Given the description of an element on the screen output the (x, y) to click on. 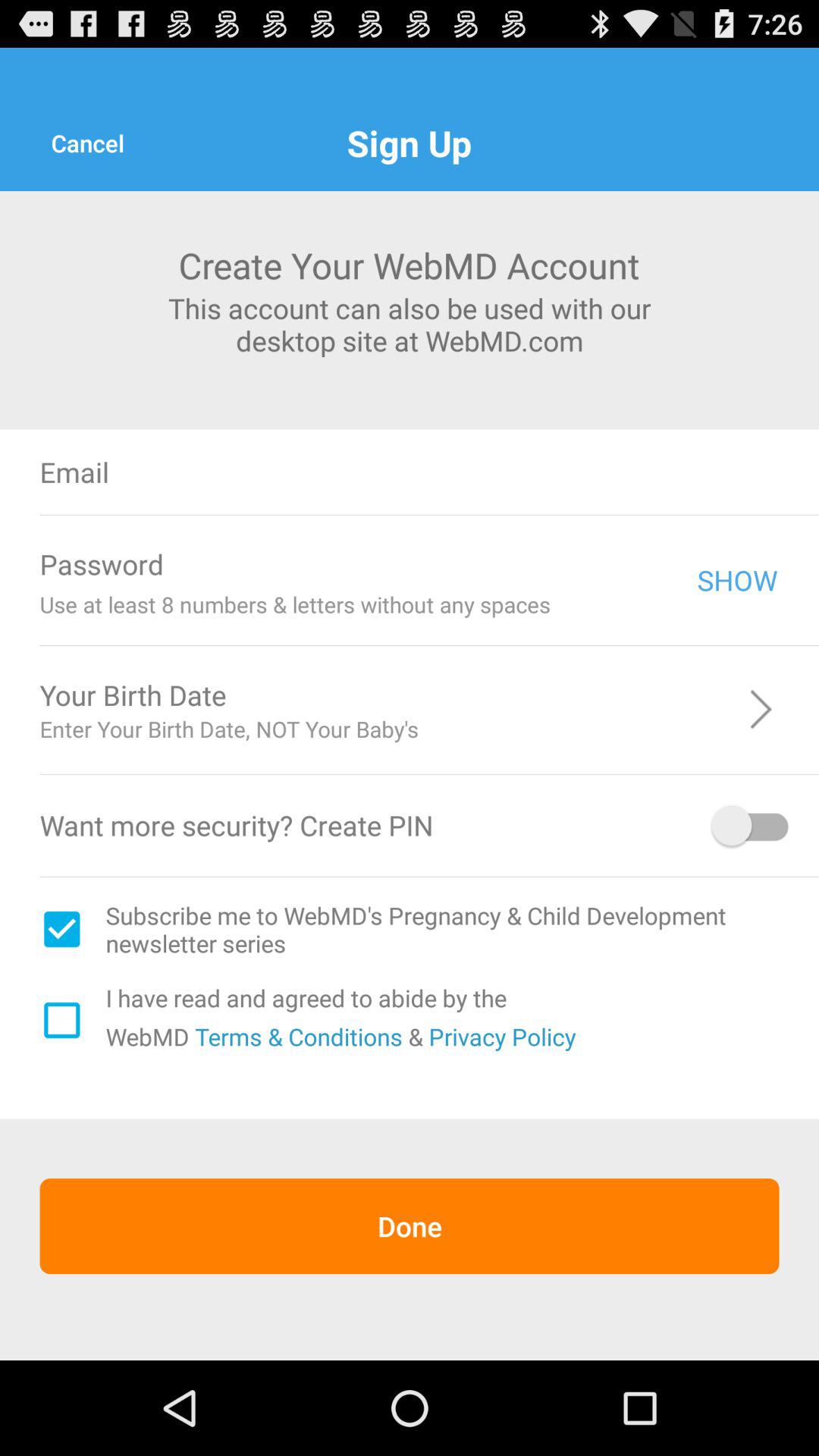
open item above the done (295, 1036)
